Given the description of an element on the screen output the (x, y) to click on. 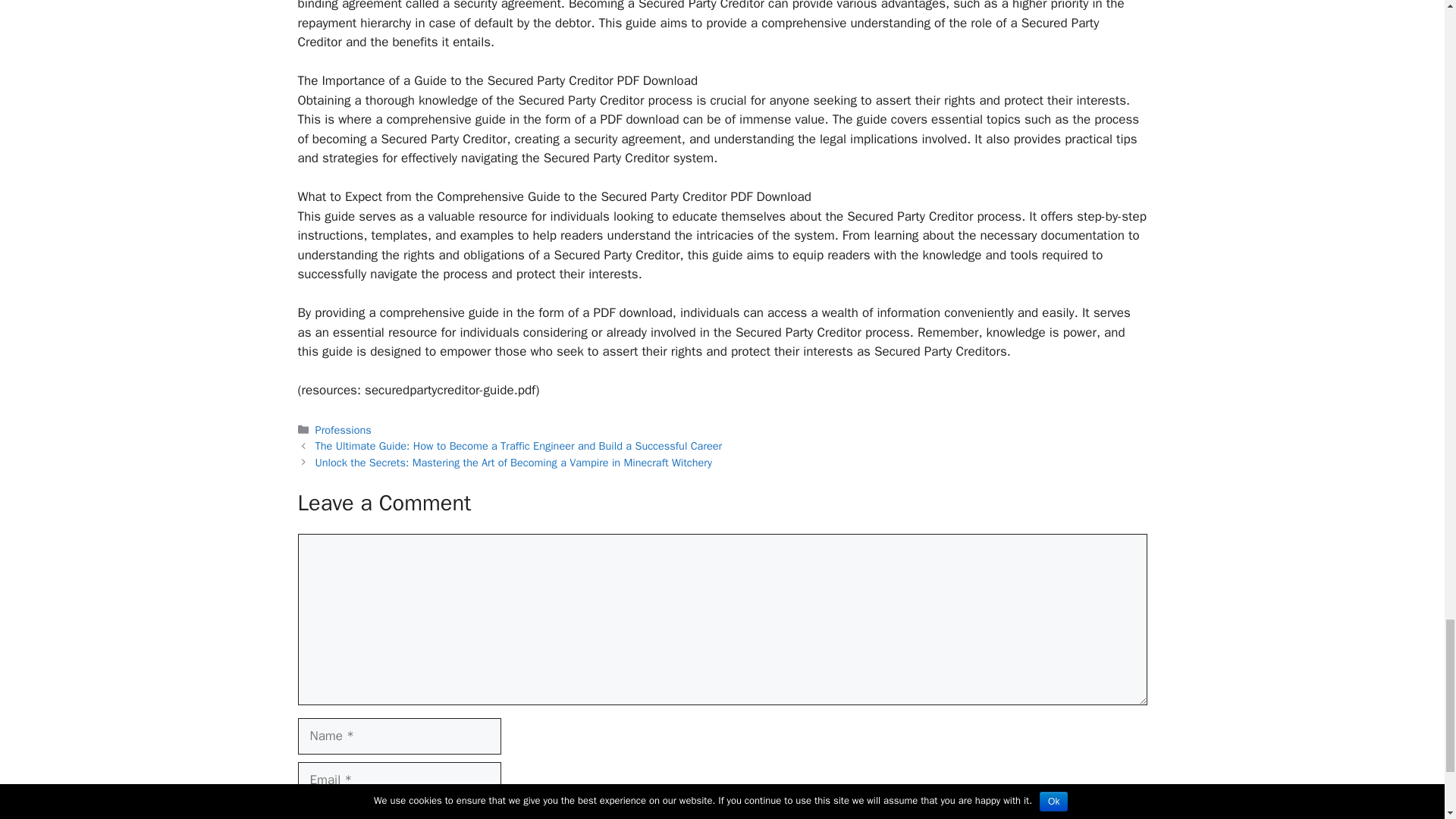
Previous (518, 445)
Professions (343, 429)
Next (513, 462)
